Given the description of an element on the screen output the (x, y) to click on. 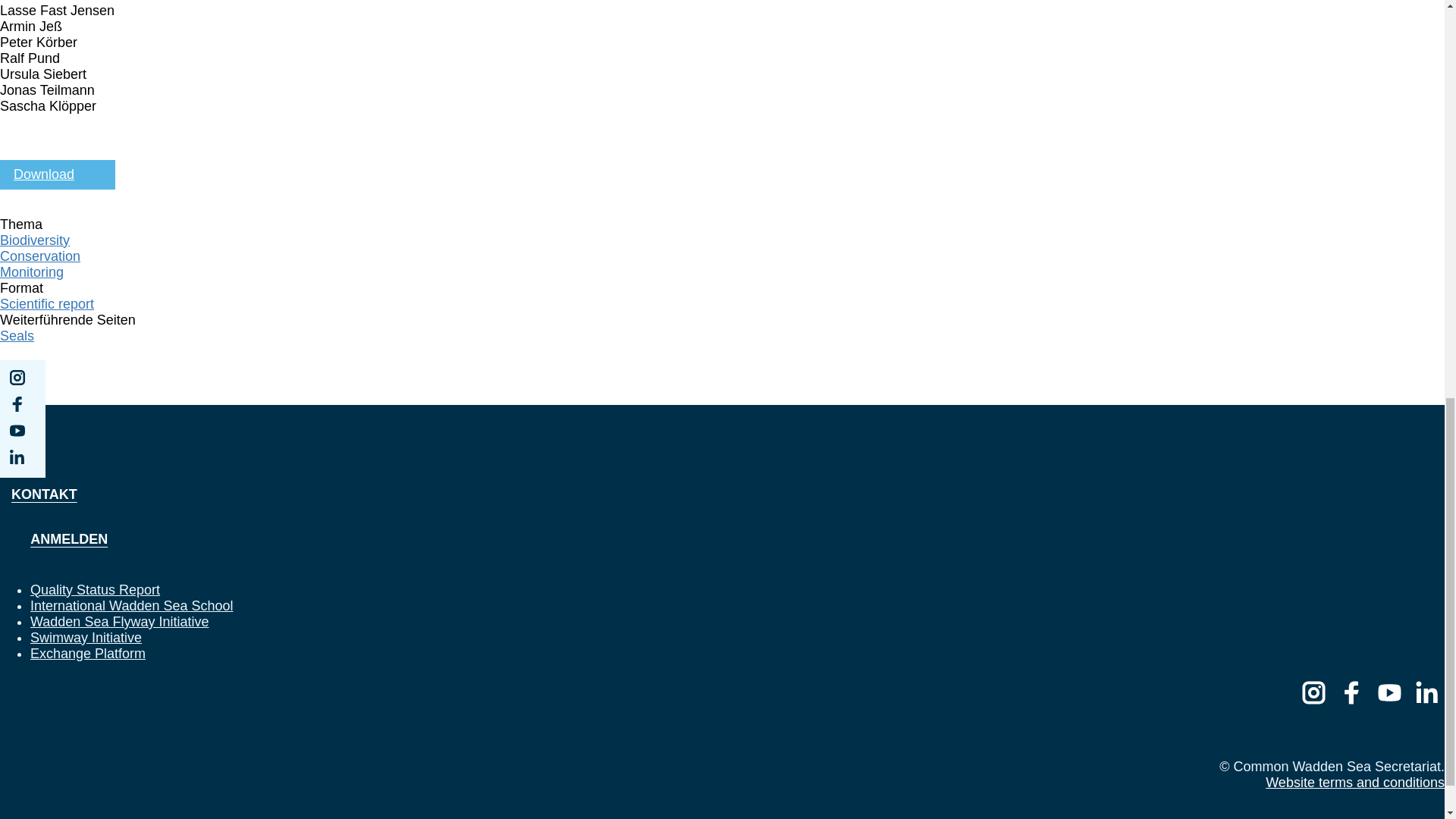
Link to the online Wadden Sea Quality Status Report (95, 589)
Link to the Swimway Initiative website (85, 637)
Download (57, 174)
Link to the Wadden Sea Flyway Initiative website (119, 621)
Link to the International Wadden Sea School website (131, 605)
Download (57, 174)
